Given the description of an element on the screen output the (x, y) to click on. 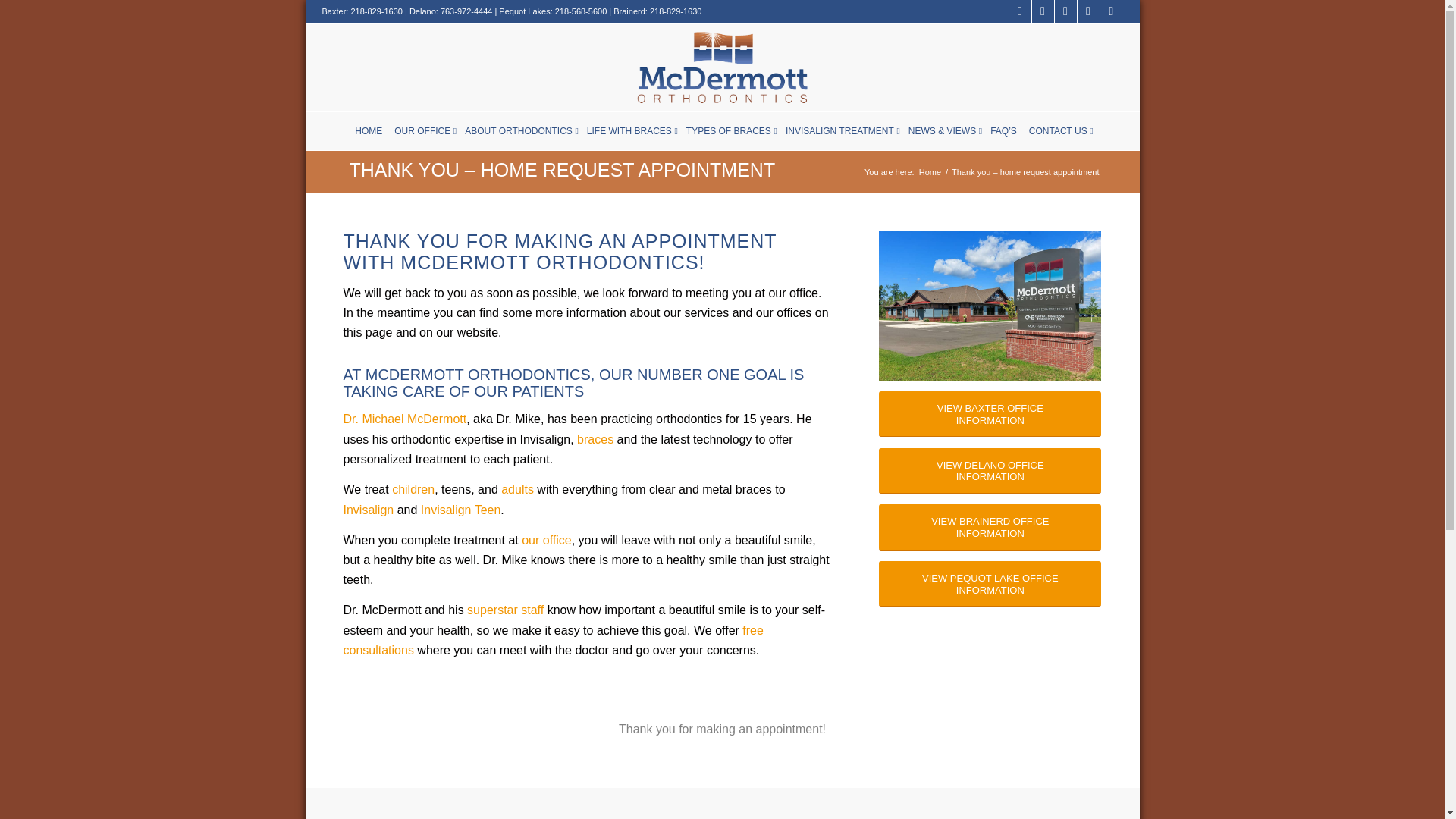
HOME (368, 130)
763-972-4444 (467, 10)
OUR OFFICE (422, 130)
218-829-1630 (376, 10)
218-568-5600 (580, 10)
Logo-McDermott-Orthodontics (722, 67)
TYPES OF BRACES (728, 130)
ABOUT ORTHODONTICS (518, 130)
LIFE WITH BRACES (629, 130)
218-829-1630 (675, 10)
